Given the description of an element on the screen output the (x, y) to click on. 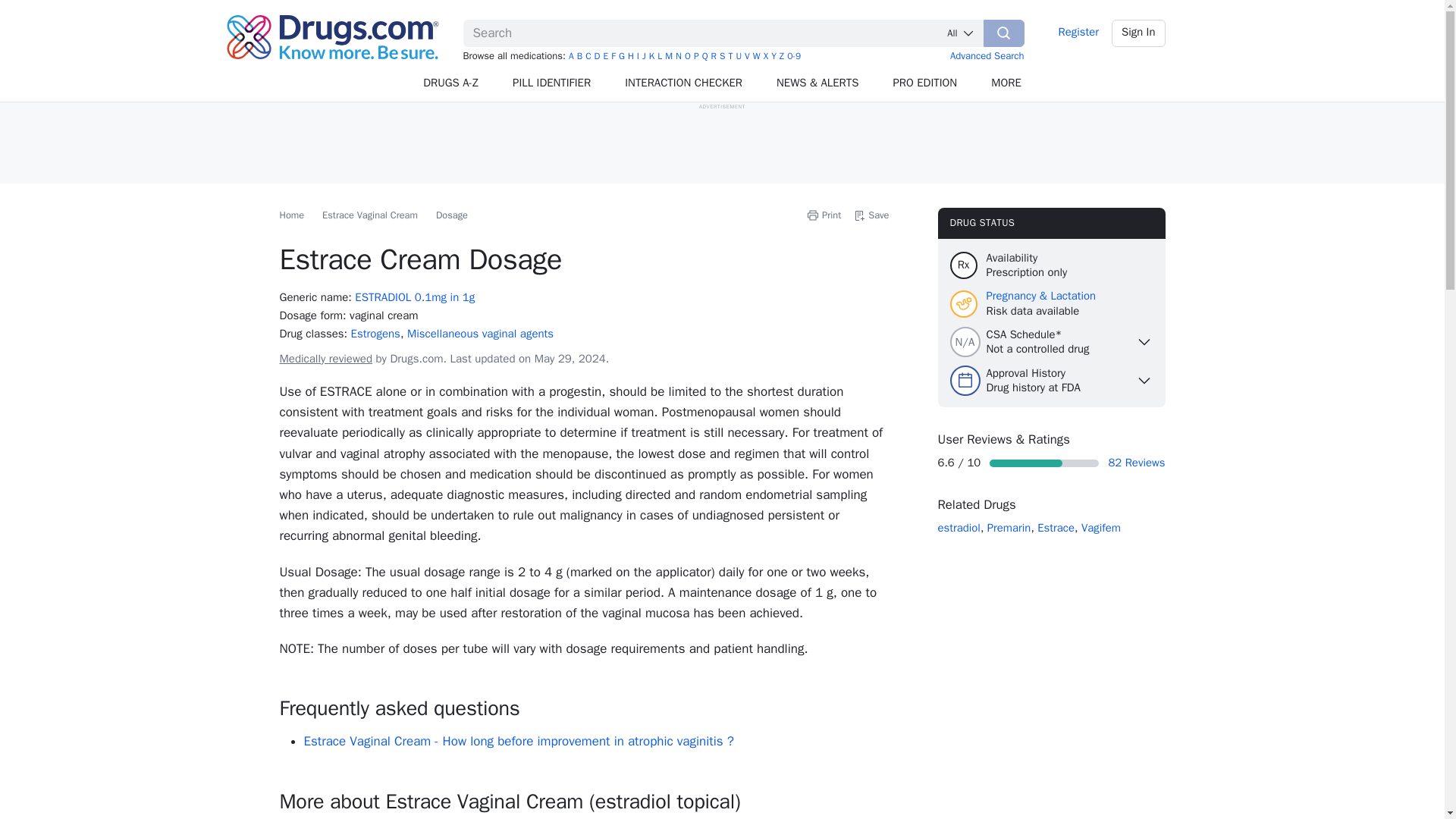
Register (1078, 32)
0-9 (793, 55)
PILL IDENTIFIER (551, 83)
Advanced Search (987, 55)
DRUGS A-Z (450, 83)
Sign In (1139, 32)
Search (1004, 32)
